Given the description of an element on the screen output the (x, y) to click on. 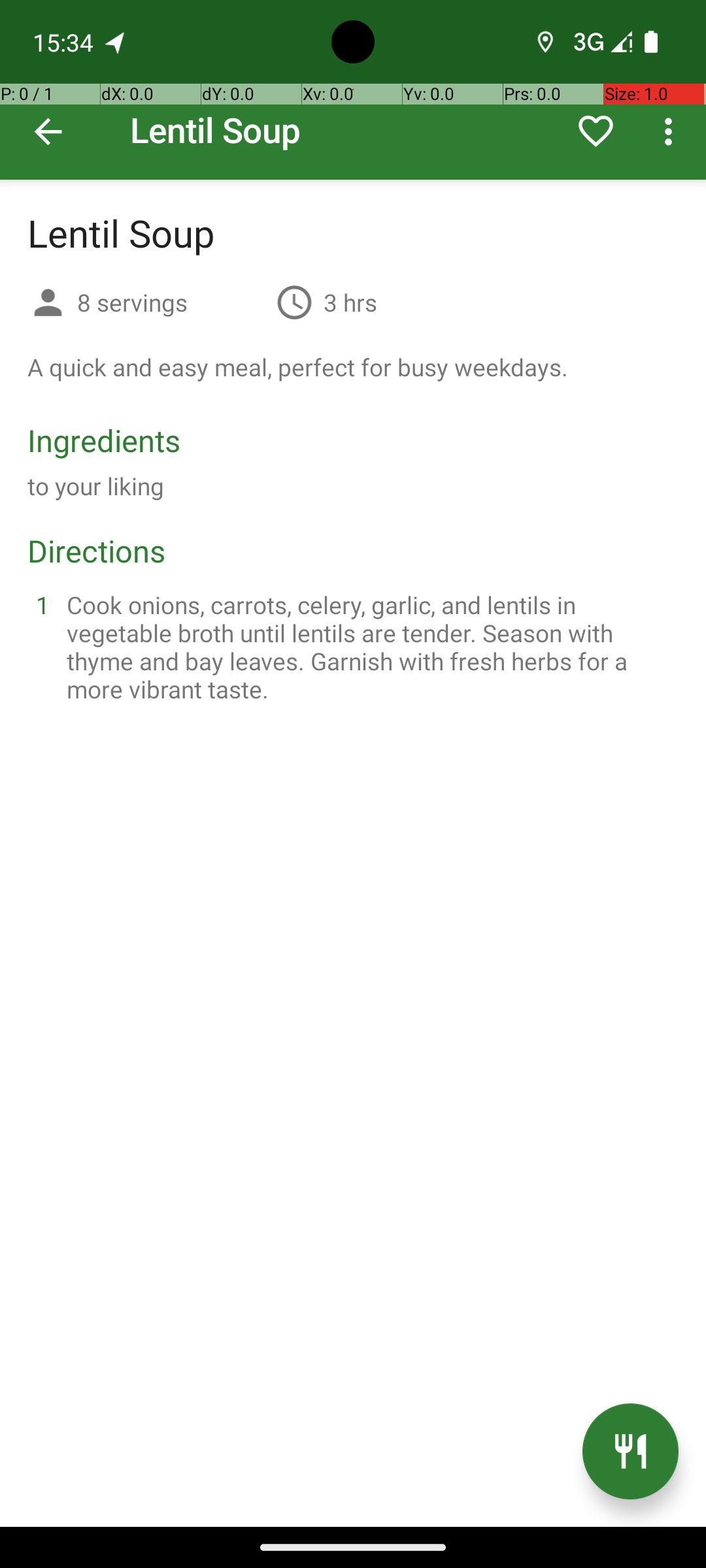
to your liking Element type: android.widget.TextView (95, 485)
Cook onions, carrots, celery, garlic, and lentils in vegetable broth until lentils are tender. Season with thyme and bay leaves. Garnish with fresh herbs for a more vibrant taste. Element type: android.widget.TextView (368, 646)
